Given the description of an element on the screen output the (x, y) to click on. 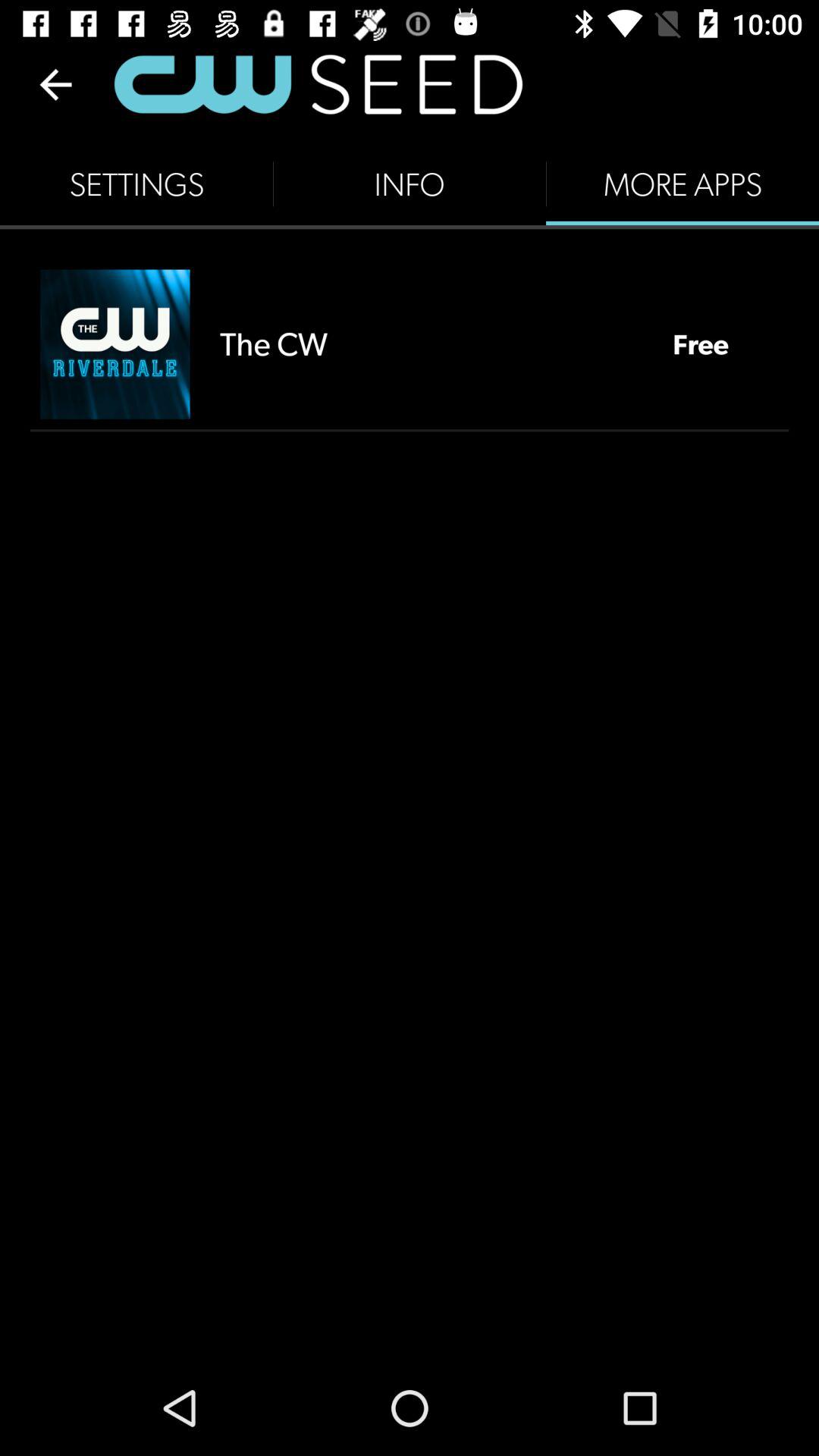
open icon to the left of info item (136, 184)
